Given the description of an element on the screen output the (x, y) to click on. 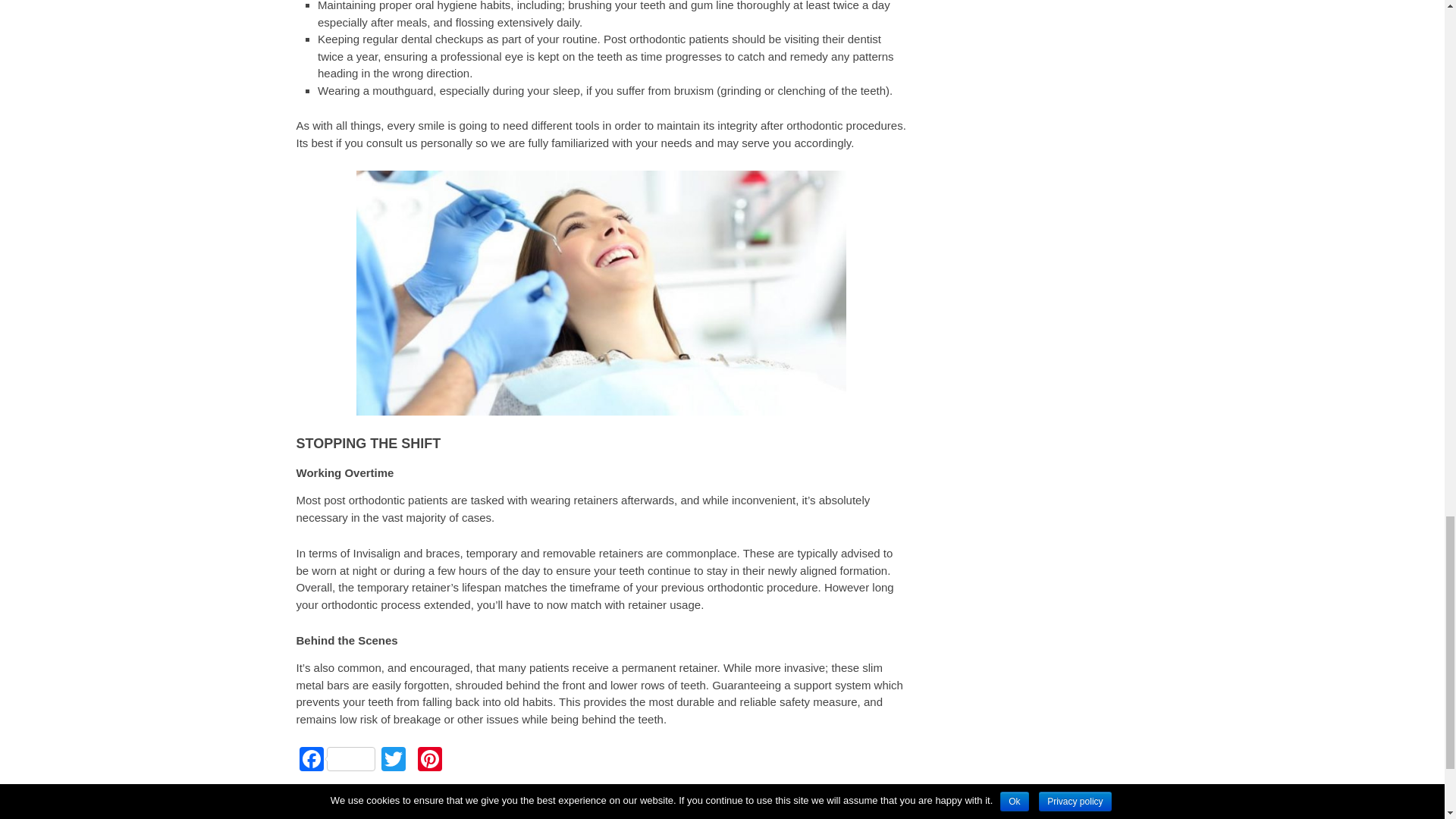
Pinterest (428, 760)
Twitter (392, 760)
Facebook (336, 760)
Facebook (336, 760)
Pinterest (428, 760)
Twitter (392, 760)
